Given the description of an element on the screen output the (x, y) to click on. 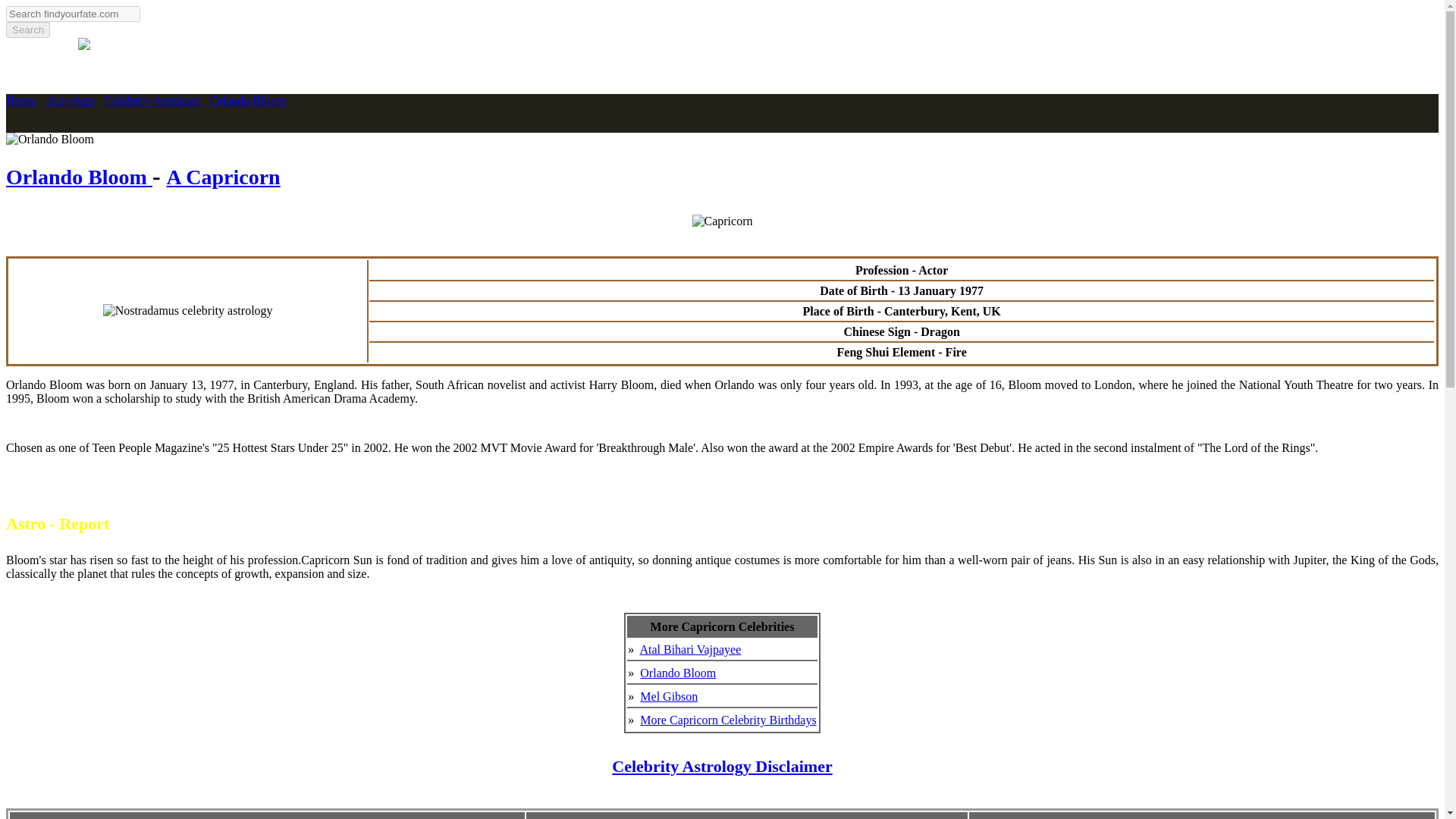
Orlando Bloom (49, 139)
Mel Gibson (668, 696)
Search (27, 29)
More Capricorn Celebrity Birthdays (727, 719)
Astrology (72, 100)
Orlando Bloom (678, 672)
Orlando Bloom (78, 177)
Celebrity Astrology Disclaimer (721, 765)
Celebrity Astrology (152, 100)
Orlando Bloom (247, 100)
Search (27, 29)
Home (19, 100)
Atal Bihari Vajpayee (690, 649)
A Capricorn (224, 177)
Search (27, 29)
